Given the description of an element on the screen output the (x, y) to click on. 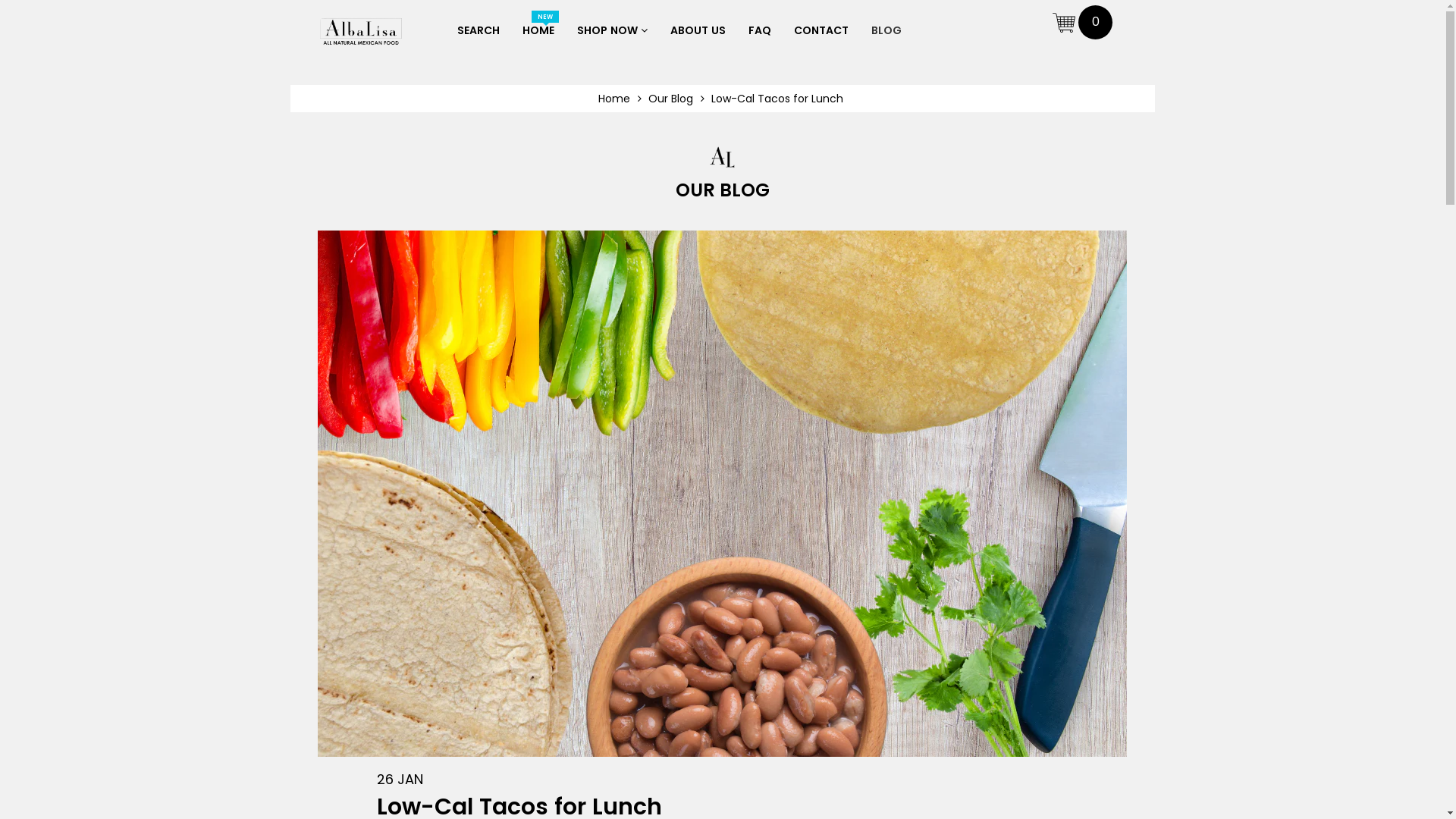
Home Element type: text (618, 98)
BLOG Element type: text (885, 30)
SEARCH Element type: text (477, 30)
FAQ Element type: text (758, 30)
NEW
HOME Element type: text (537, 30)
CONTACT Element type: text (820, 30)
0 Element type: text (1082, 21)
Our Blog Element type: text (675, 98)
ABOUT US Element type: text (697, 30)
SHOP NOW Element type: text (611, 30)
